Given the description of an element on the screen output the (x, y) to click on. 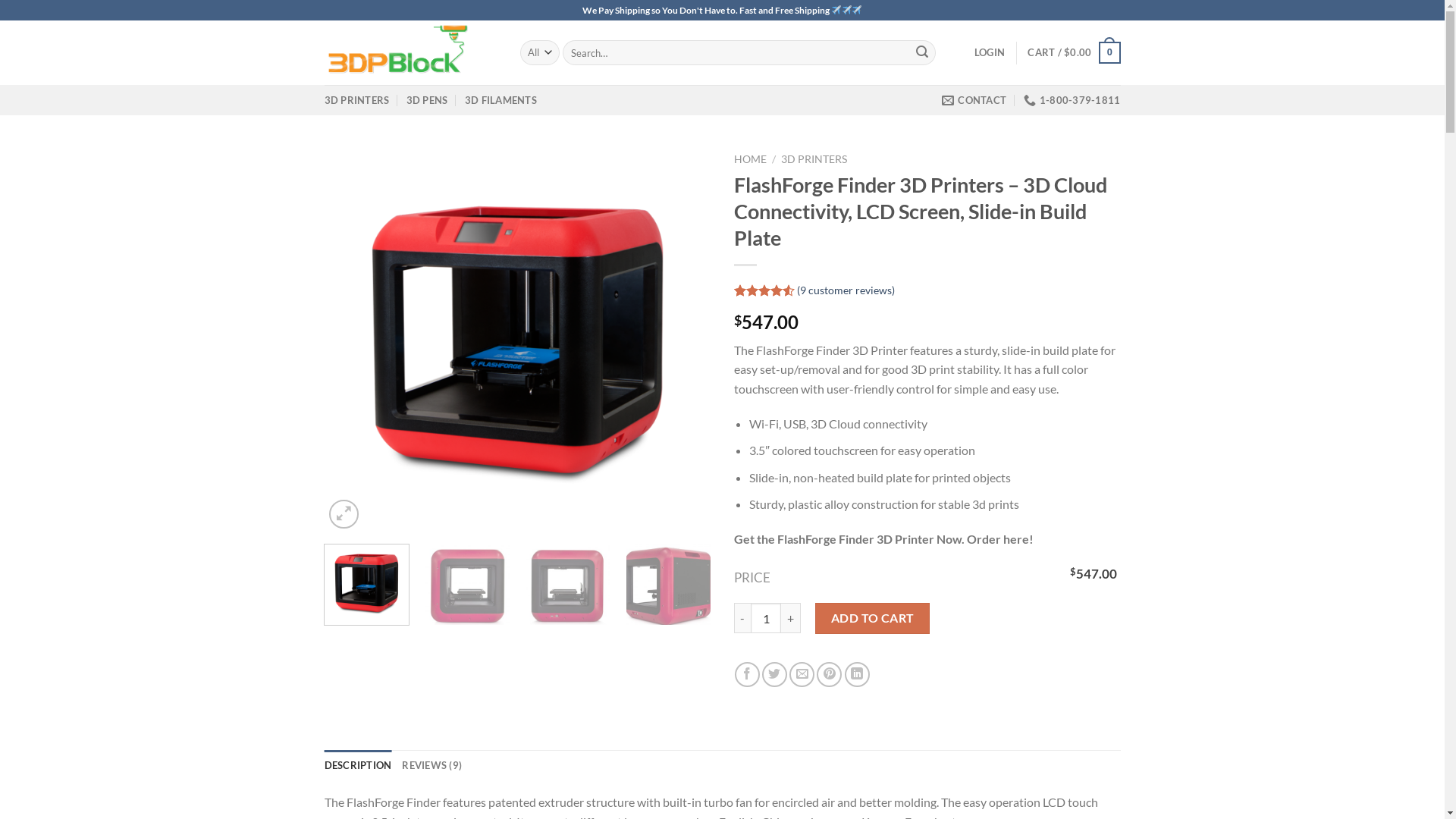
CART / $0.00
0 Element type: text (1073, 52)
3D PRINTERS Element type: text (814, 159)
Qty Element type: hover (765, 617)
(9 customer reviews) Element type: text (845, 289)
3D PRINTERS Element type: text (356, 99)
3D PENS Element type: text (427, 99)
FlashForge Finder Element type: hover (517, 338)
Search Element type: text (922, 52)
REVIEWS (9) Element type: text (431, 764)
LOGIN Element type: text (989, 52)
DESCRIPTION Element type: text (358, 764)
1-800-379-1811 Element type: text (1071, 99)
3DP Block - Welcome to 3D Printing Block Element type: hover (410, 52)
HOME Element type: text (750, 159)
CONTACT Element type: text (973, 99)
3D FILAMENTS Element type: text (500, 99)
ADD TO CART Element type: text (872, 617)
